Given the description of an element on the screen output the (x, y) to click on. 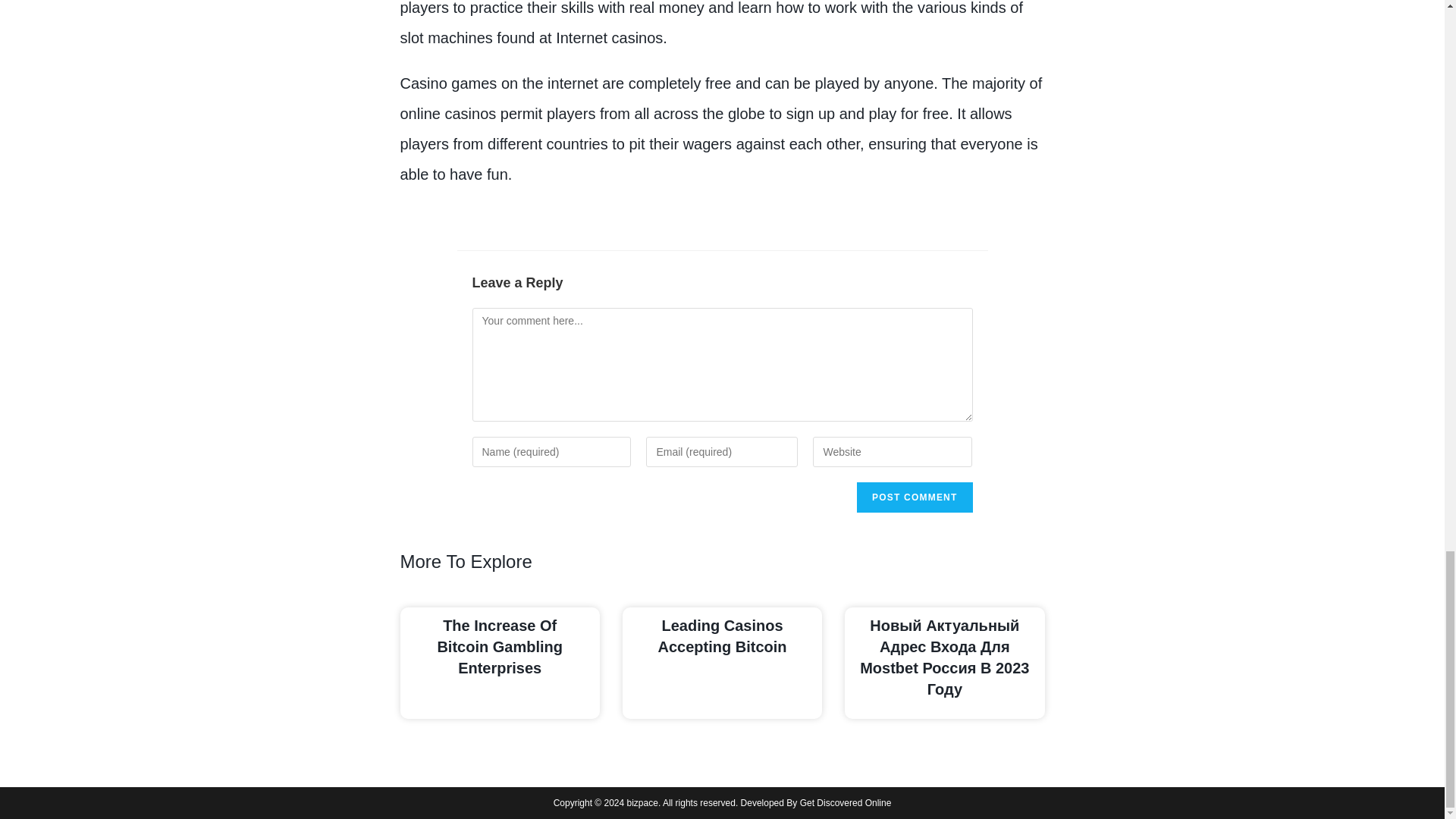
Leading Casinos Accepting Bitcoin (722, 636)
Post Comment (914, 497)
The Increase Of Bitcoin Gambling Enterprises (499, 646)
Post Comment (914, 497)
